Given the description of an element on the screen output the (x, y) to click on. 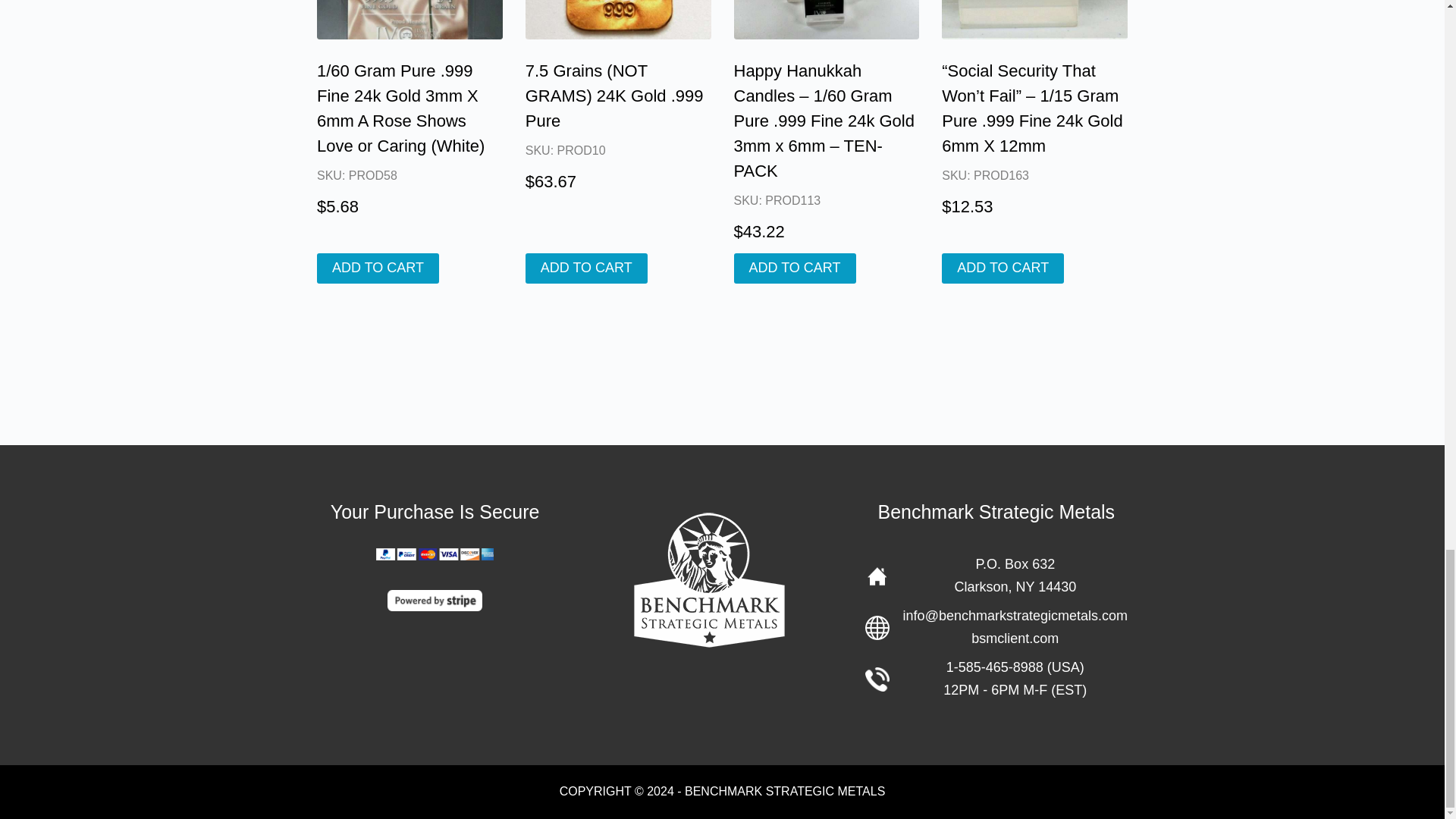
ADD TO CART (794, 268)
7.5-grain-bar.jpg (618, 19)
ADD TO CART (586, 268)
ADD TO CART (378, 268)
candles 10-pack front (826, 19)
front (1034, 19)
front-9.jpg (409, 19)
